Given the description of an element on the screen output the (x, y) to click on. 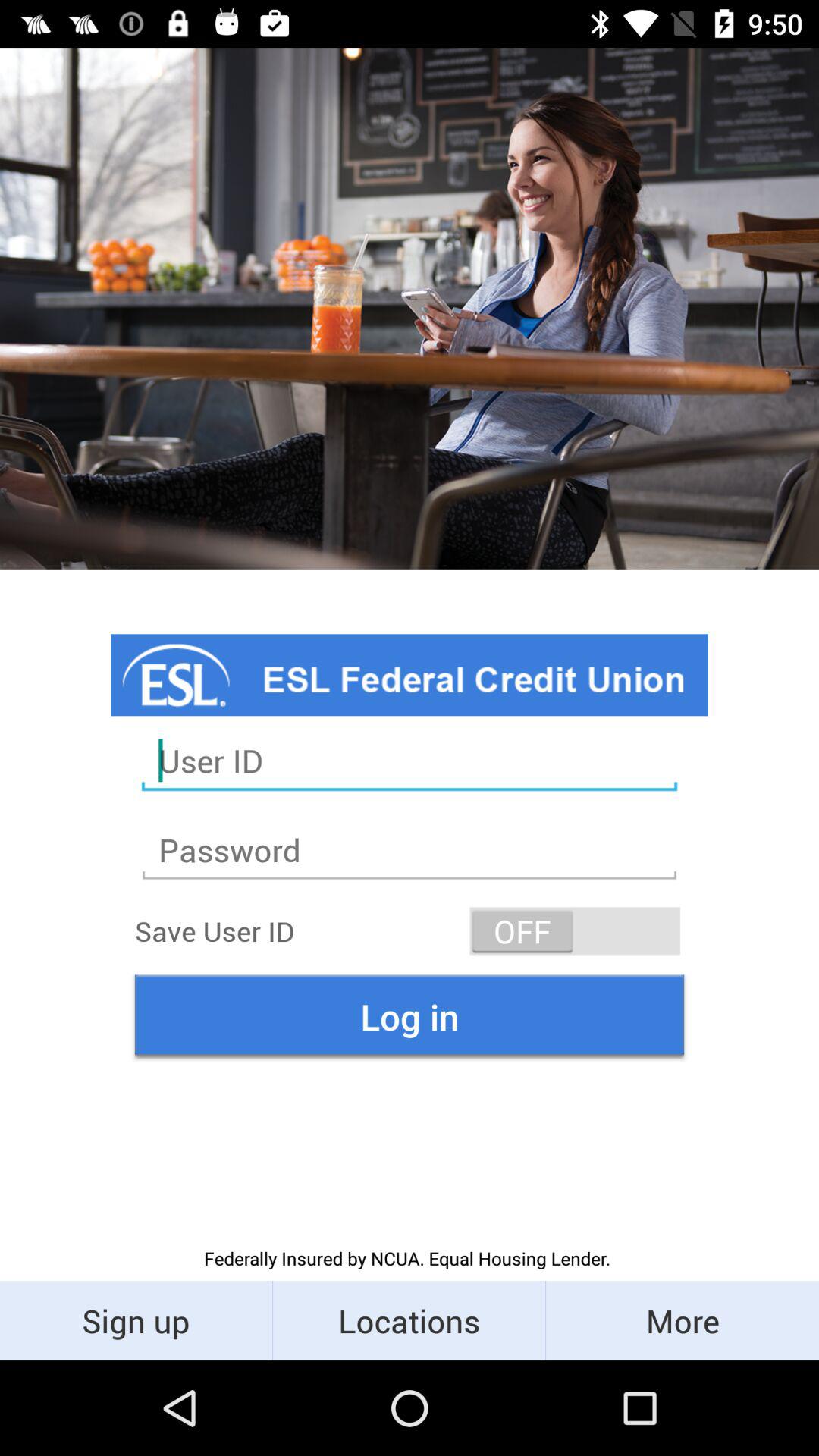
click item below federally insured by (409, 1320)
